Given the description of an element on the screen output the (x, y) to click on. 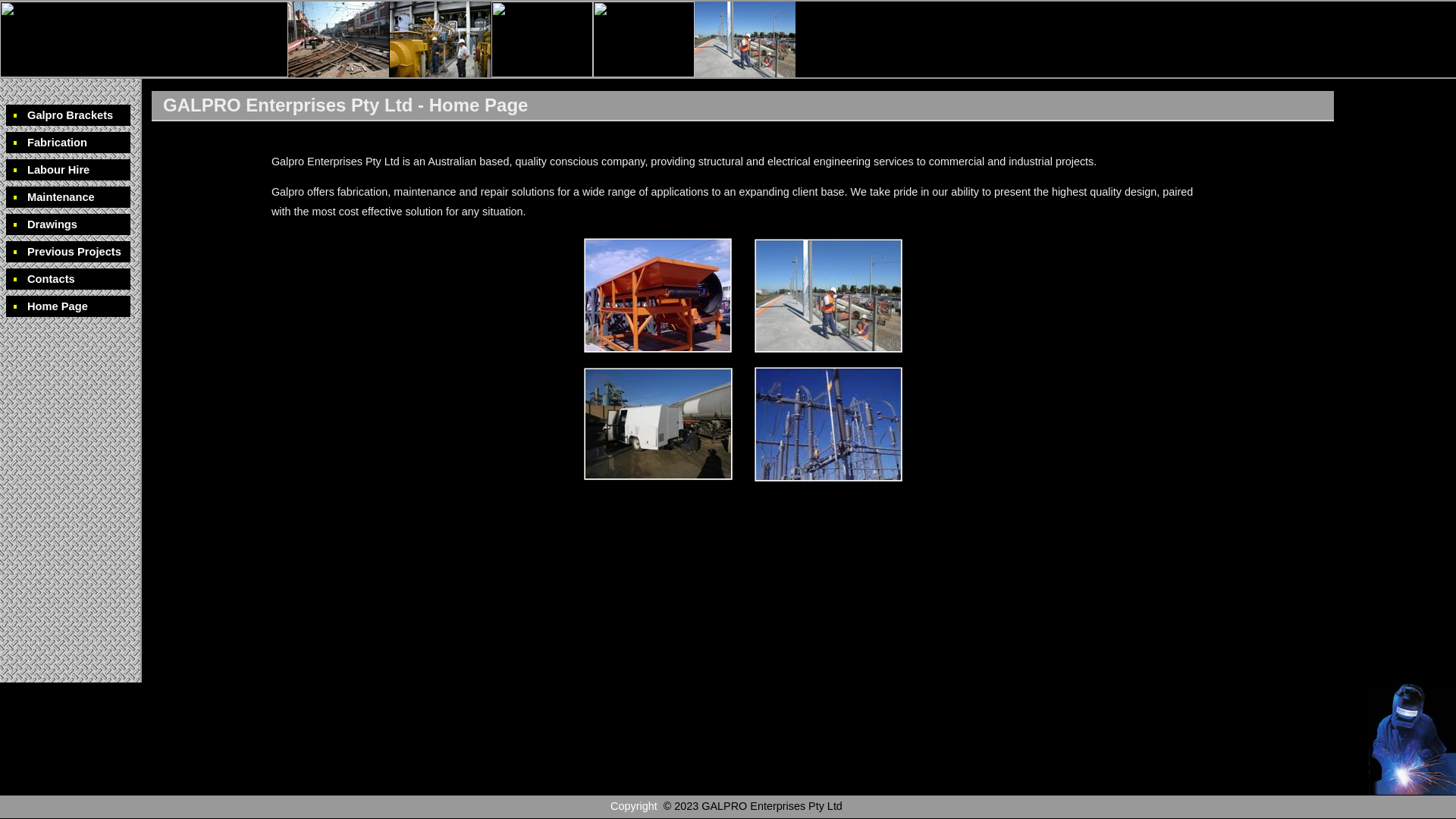
Fabrication Element type: text (68, 142)
Contacts Element type: text (68, 278)
Galpro Brackets Element type: text (68, 114)
Drawings Element type: text (68, 224)
Copyright Element type: text (633, 806)
Previous Projects Element type: text (68, 251)
Maintenance Element type: text (68, 196)
Home Page Element type: text (68, 305)
Labour Hire Element type: text (68, 169)
